Given the description of an element on the screen output the (x, y) to click on. 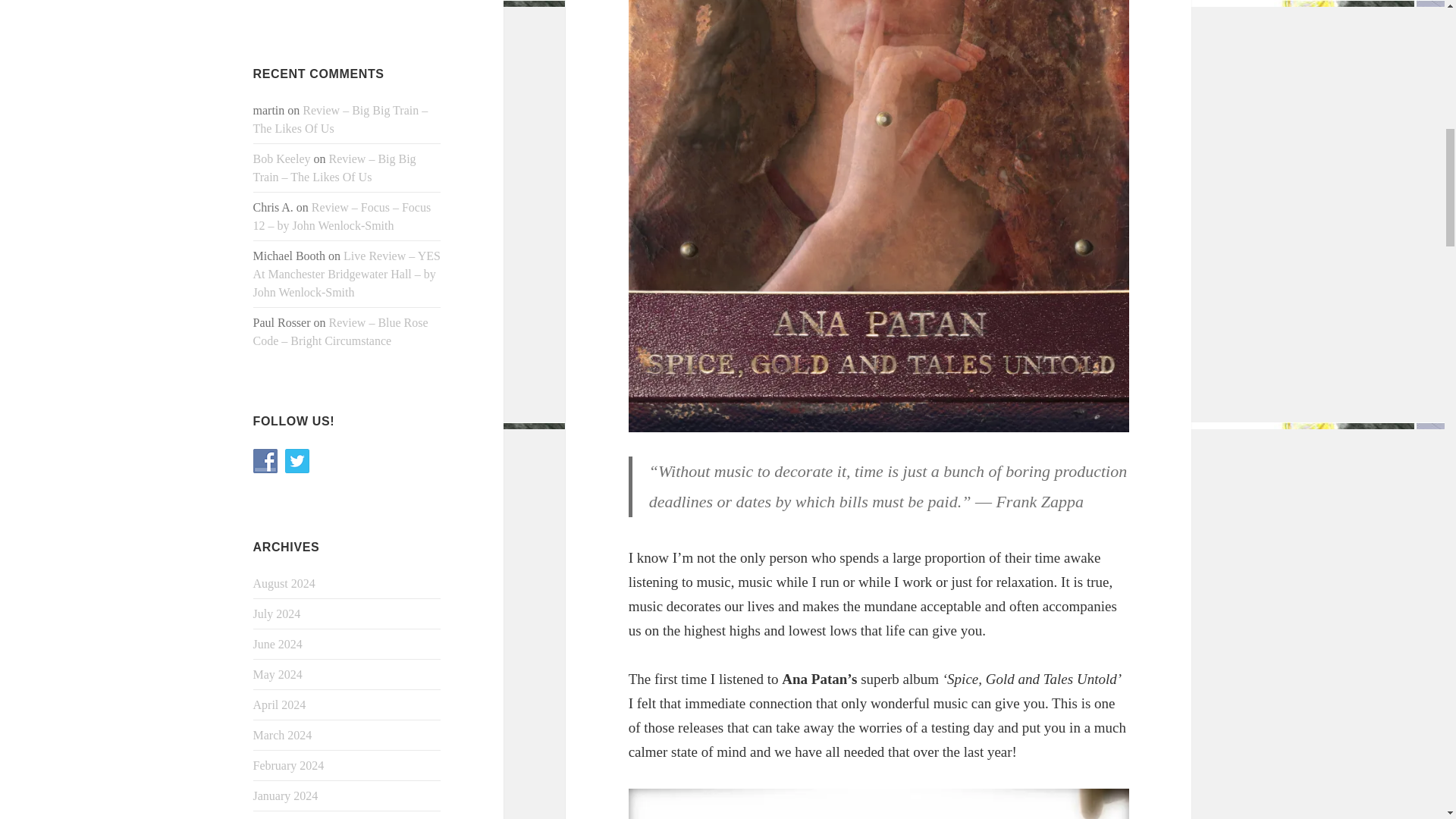
June 2024 (277, 644)
Bob Keeley (282, 158)
April 2024 (279, 704)
July 2024 (277, 613)
March 2024 (283, 735)
January 2024 (285, 795)
May 2024 (277, 674)
Facebook Progradar (265, 460)
February 2024 (288, 765)
August 2024 (284, 583)
Twitter DTVoicesUK (296, 460)
